Given the description of an element on the screen output the (x, y) to click on. 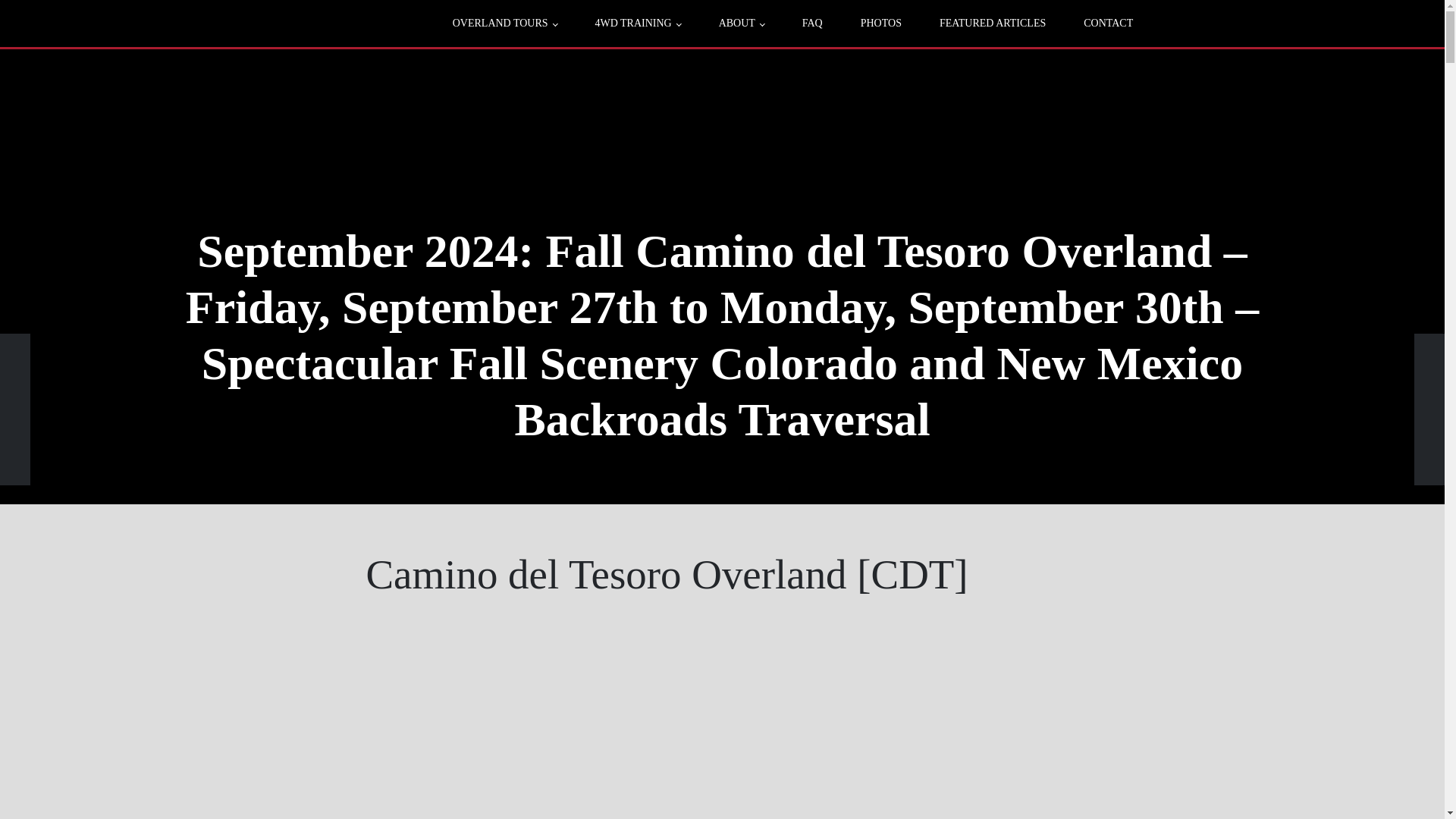
4WD TRAINING (638, 23)
HOME (362, 72)
OVERLAND TOURS (504, 23)
FAQ (812, 23)
ABOUT (741, 23)
PHOTOS (880, 23)
CONTACT (1107, 23)
FEATURED ARTICLES (992, 23)
